Given the description of an element on the screen output the (x, y) to click on. 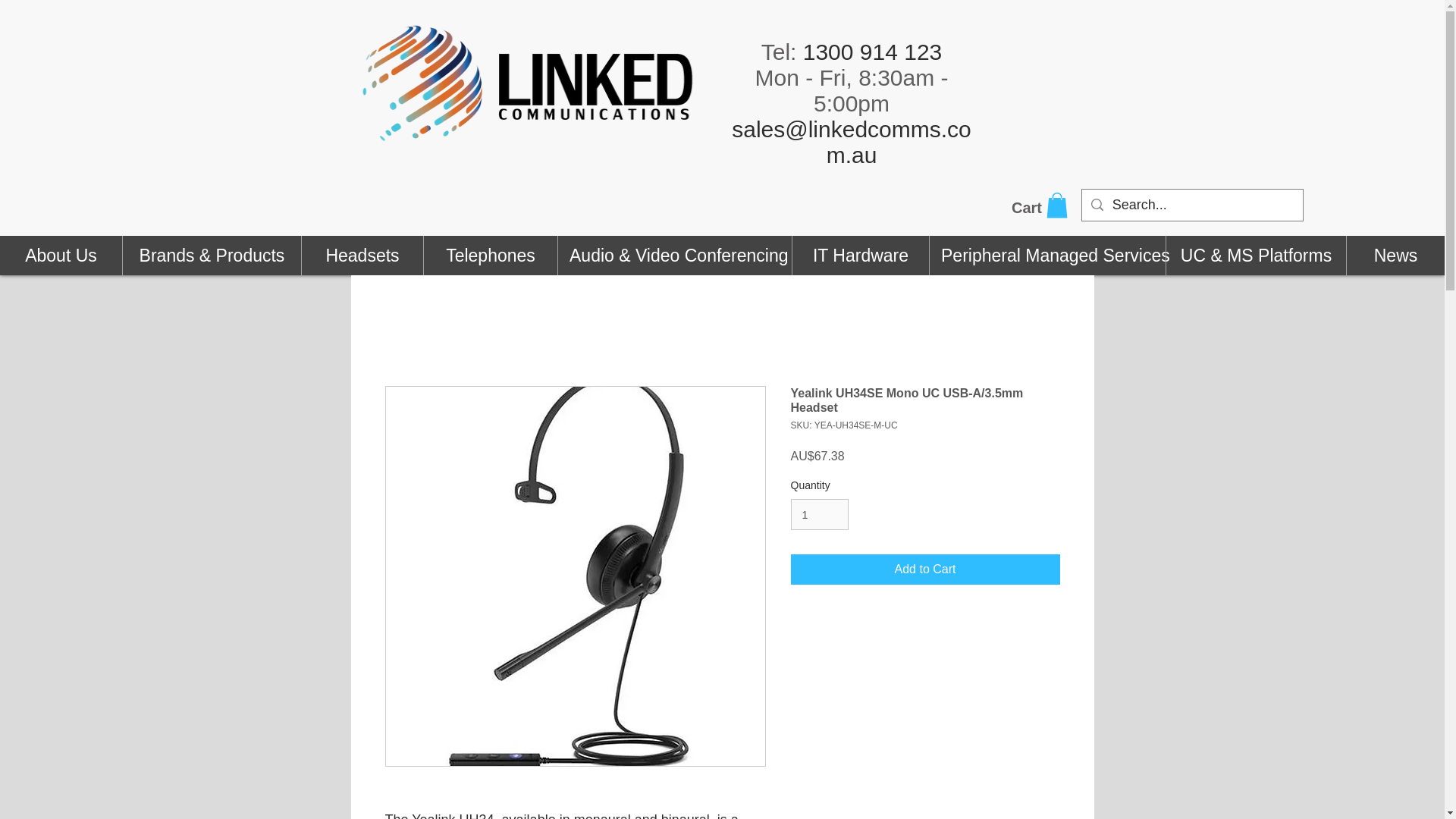
About Us (61, 255)
1 (818, 513)
Headsets (362, 255)
Telephones (490, 255)
